Given the description of an element on the screen output the (x, y) to click on. 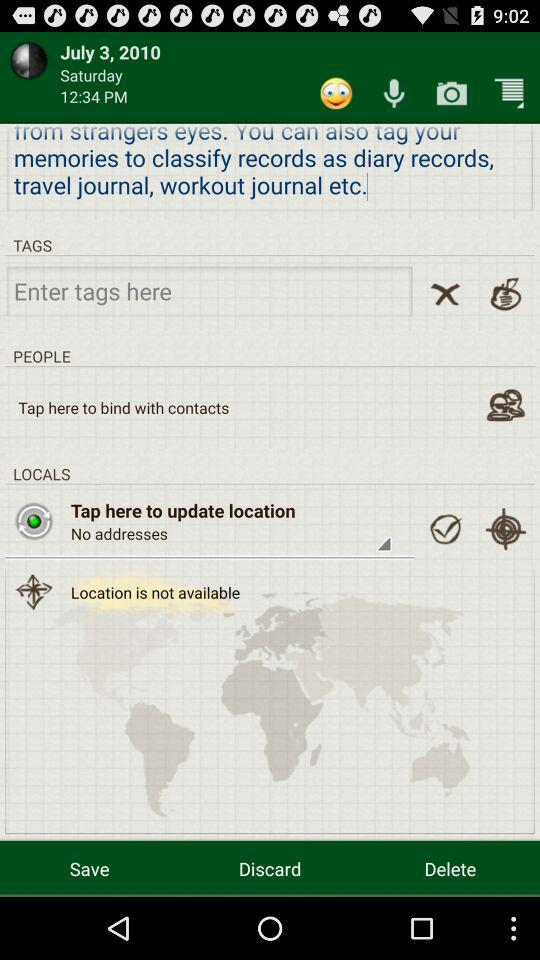
microphone (394, 92)
